Given the description of an element on the screen output the (x, y) to click on. 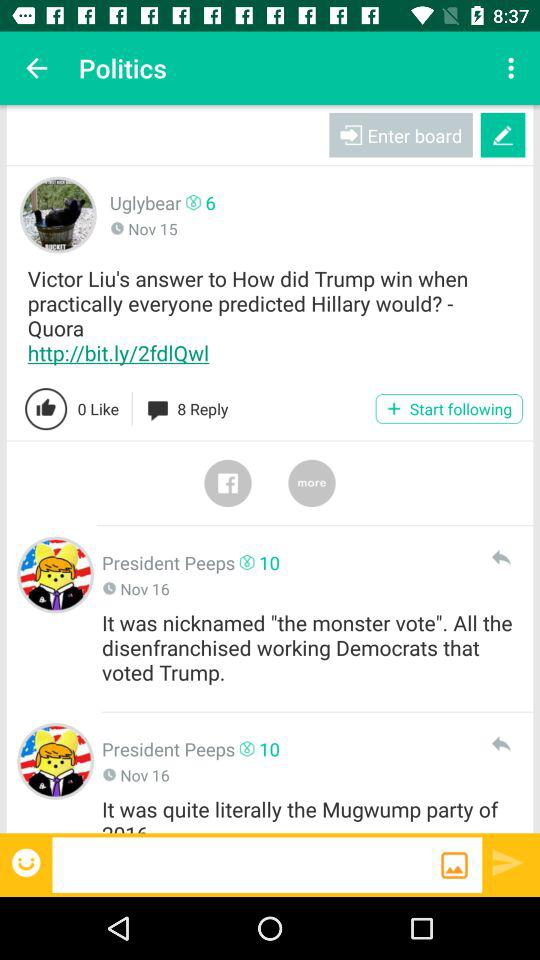
more button (312, 483)
